Given the description of an element on the screen output the (x, y) to click on. 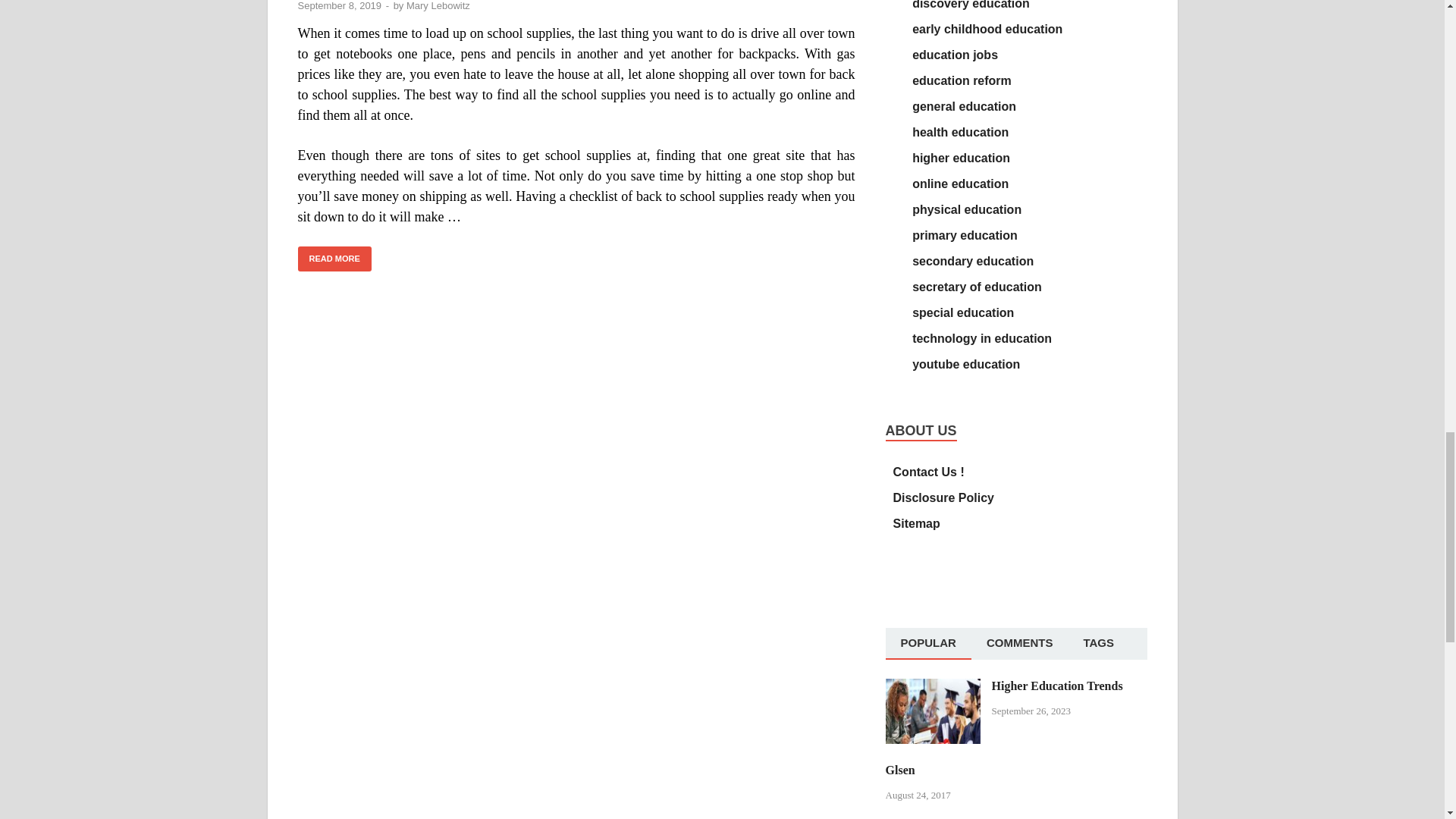
Higher Education Trends (932, 686)
